Given the description of an element on the screen output the (x, y) to click on. 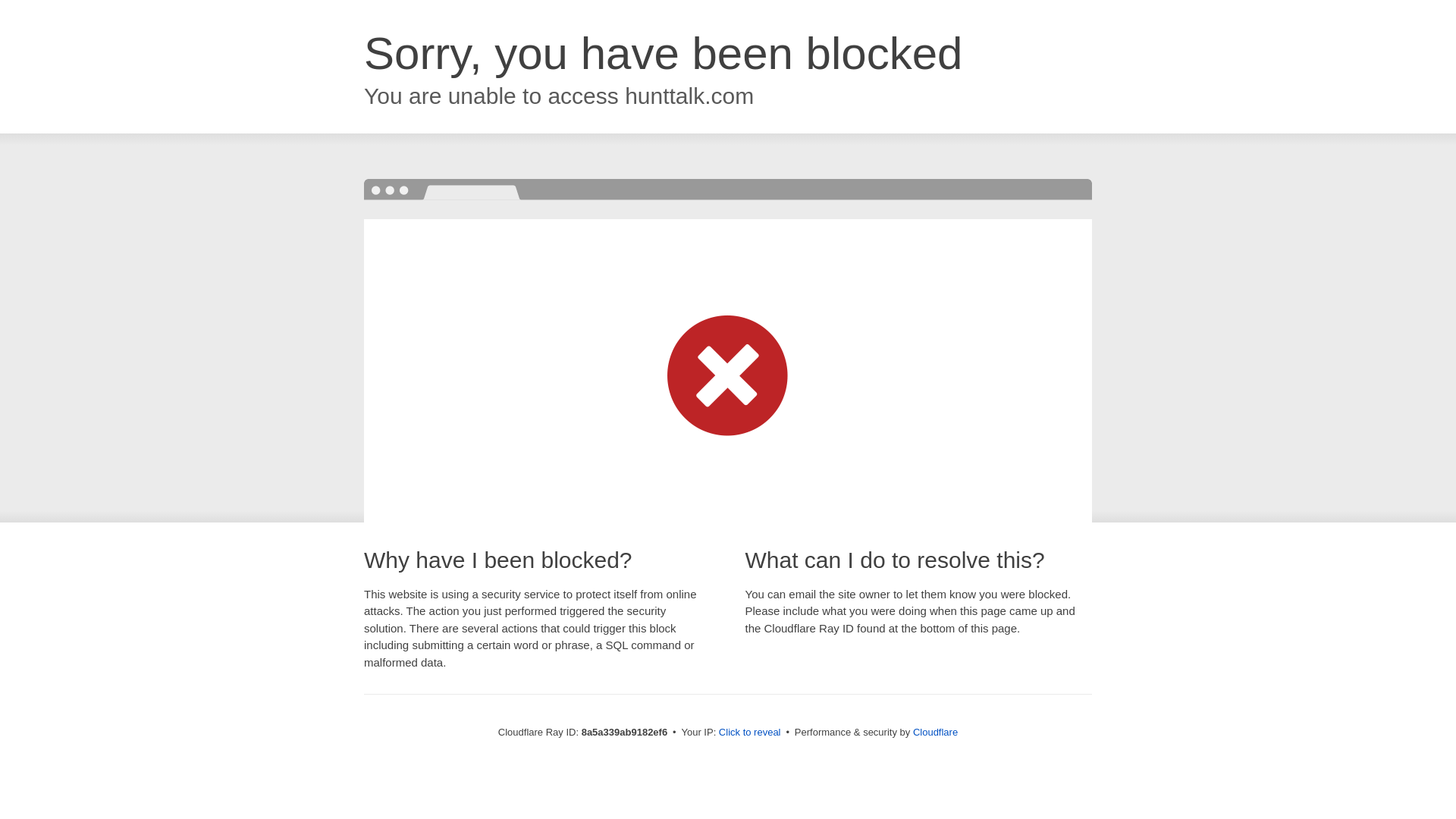
Cloudflare (935, 731)
Click to reveal (749, 732)
